Given the description of an element on the screen output the (x, y) to click on. 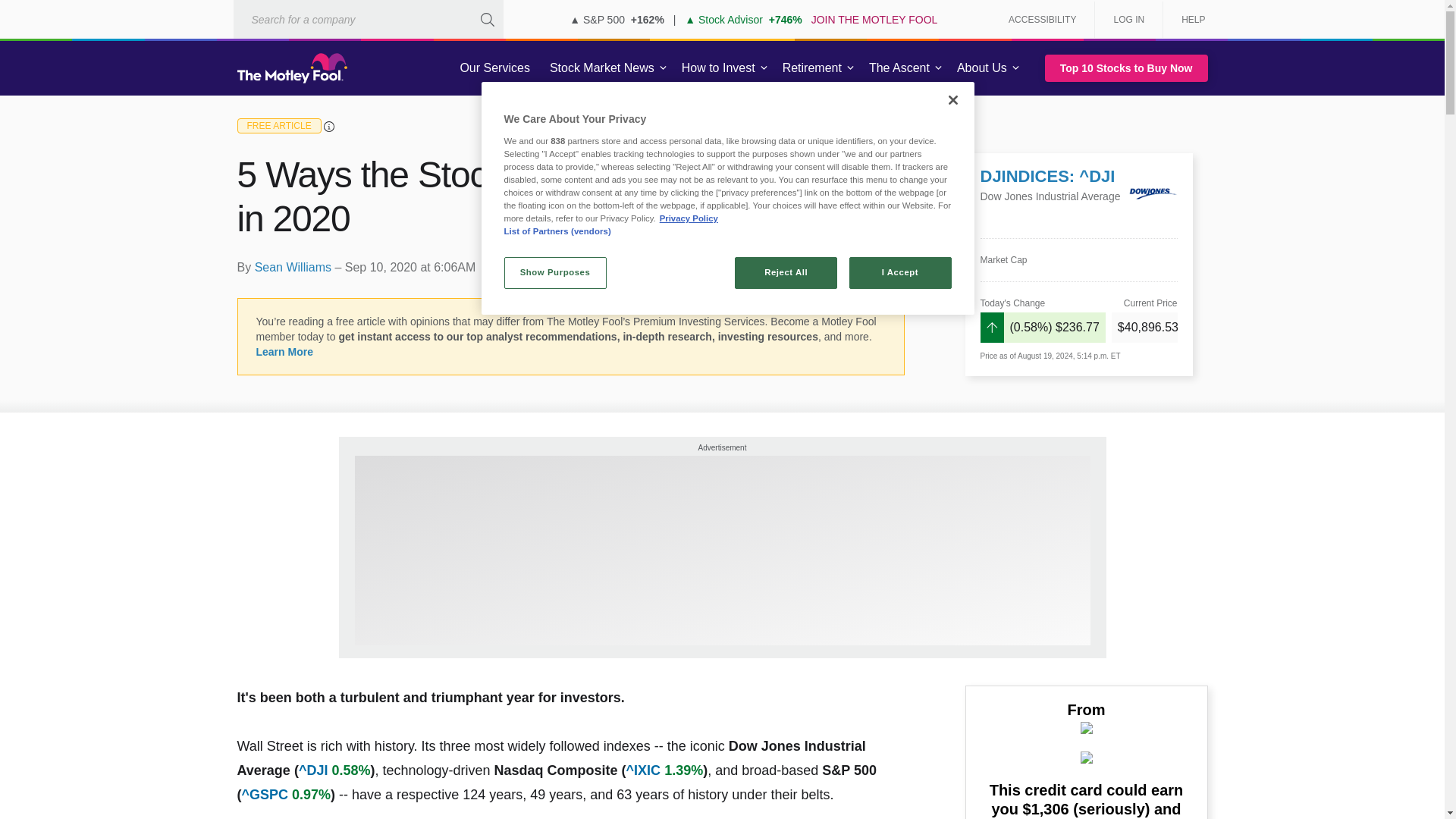
How to Invest (718, 67)
Stock Market News (601, 67)
LOG IN (1128, 19)
Our Services (493, 67)
ACCESSIBILITY (1042, 19)
HELP (1187, 19)
